Given the description of an element on the screen output the (x, y) to click on. 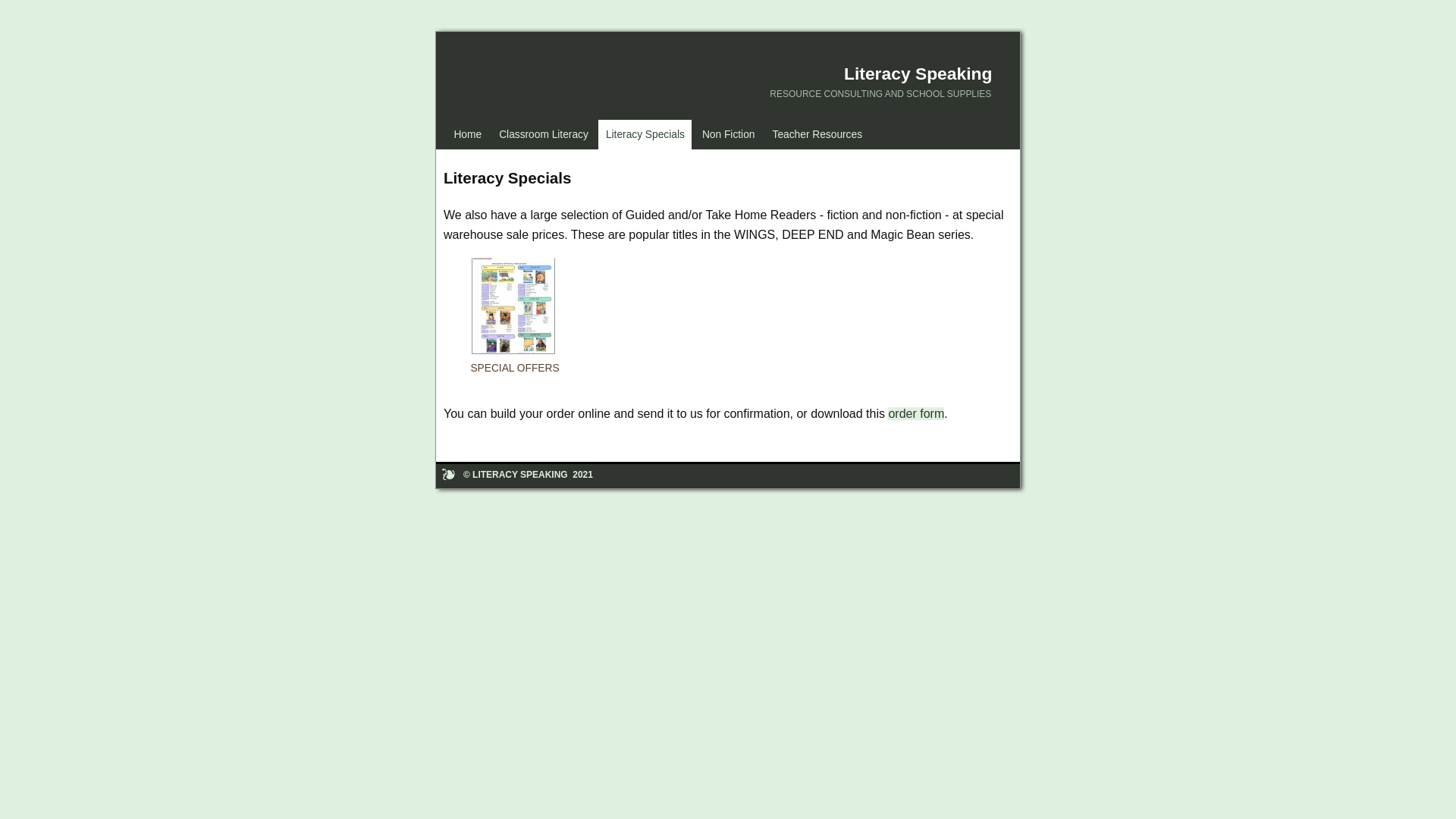
order form Element type: text (916, 413)
Literacy Speaking Element type: text (917, 73)
Special Offers Element type: hover (513, 307)
Home Element type: text (467, 134)
SPECIAL OFFERS Element type: text (513, 329)
Classroom Literacy Element type: text (544, 134)
Teacher Resources Element type: text (817, 134)
Non Fiction Element type: text (728, 134)
